Given the description of an element on the screen output the (x, y) to click on. 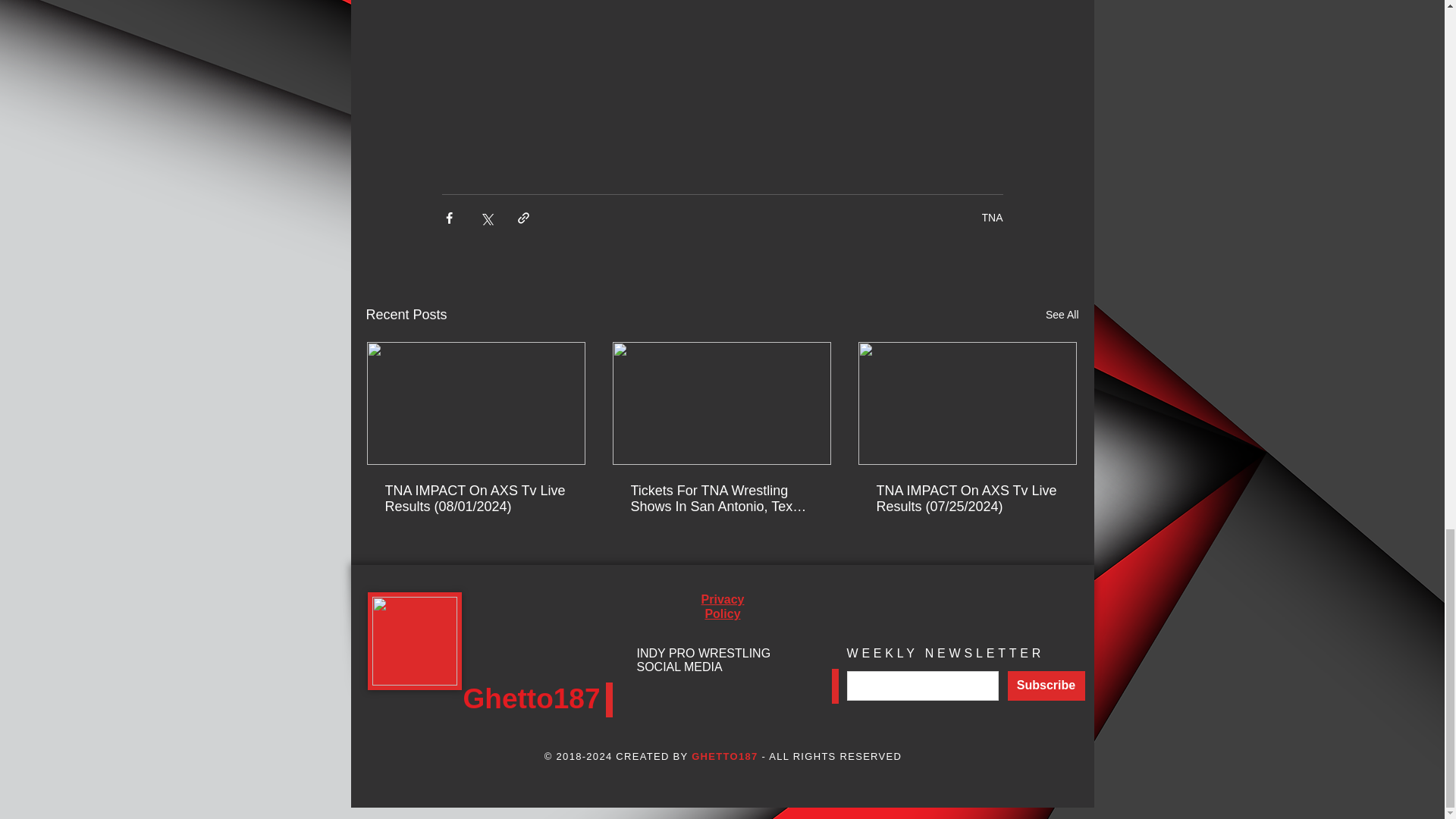
TNA (992, 217)
See All (1061, 314)
Ghetto187 (531, 698)
Privacy Policy (722, 605)
Subscribe (1045, 685)
GHETTO187 (724, 756)
